Given the description of an element on the screen output the (x, y) to click on. 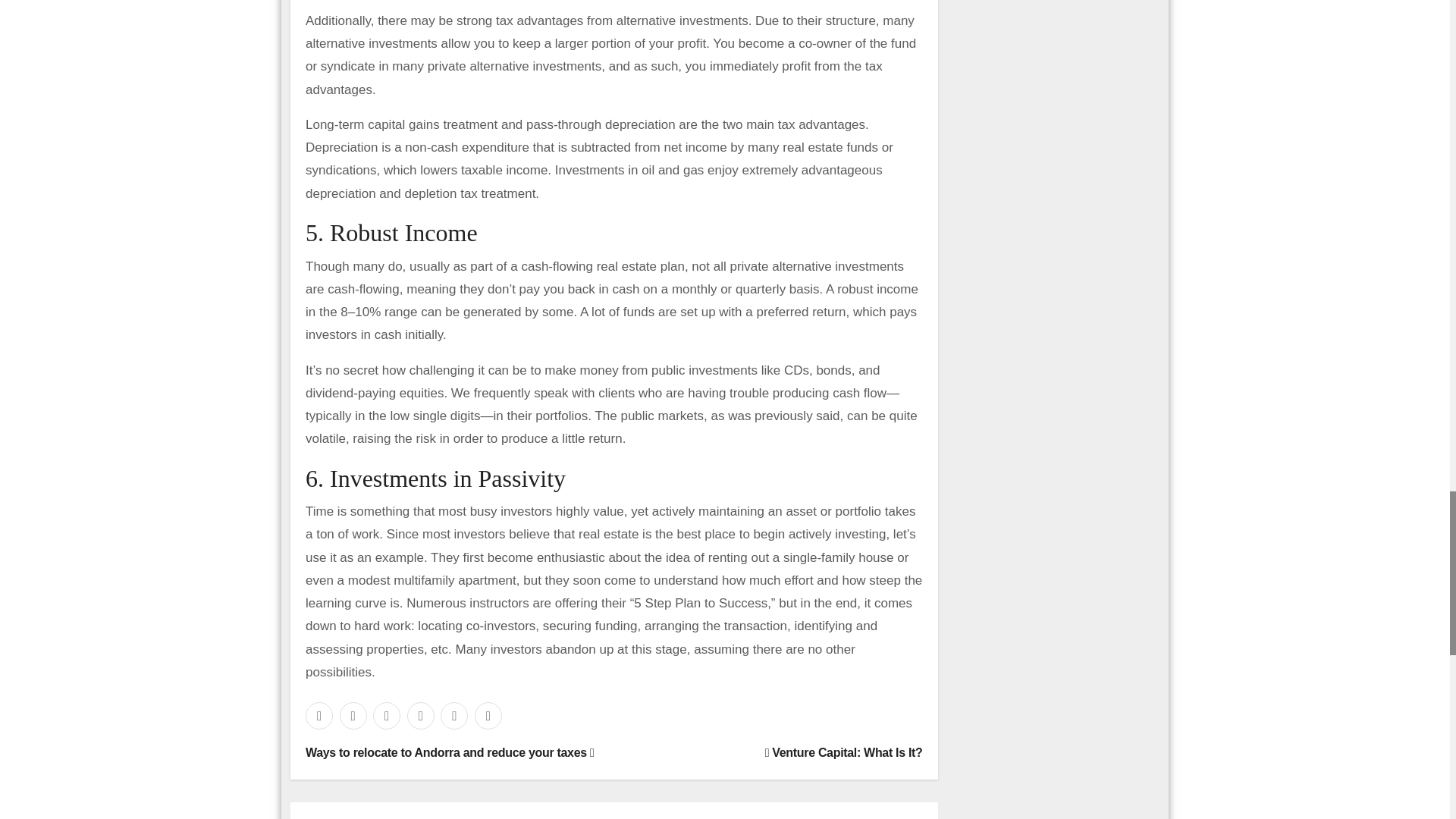
Venture Capital: What Is It? (844, 752)
Ways to relocate to Andorra and reduce your taxes (449, 752)
